Given the description of an element on the screen output the (x, y) to click on. 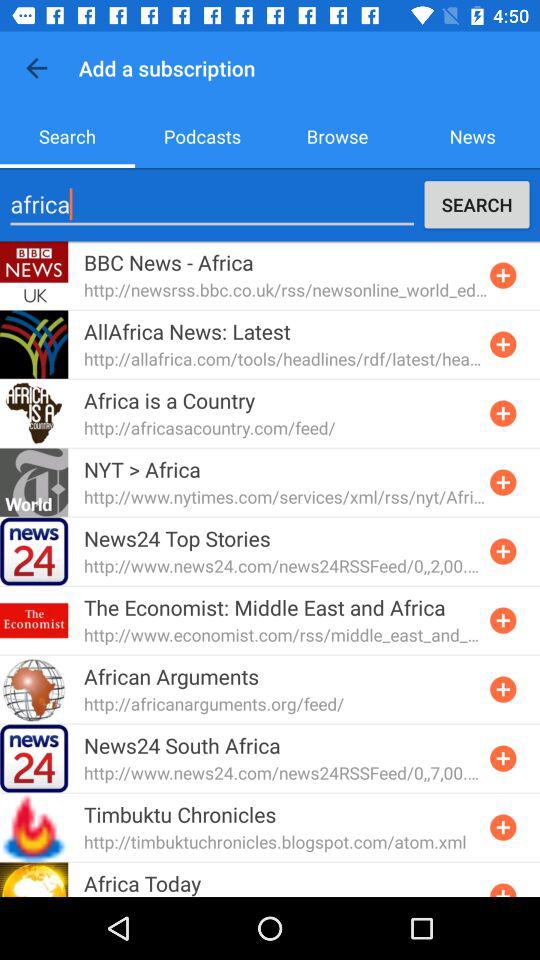
expand menu (503, 888)
